Given the description of an element on the screen output the (x, y) to click on. 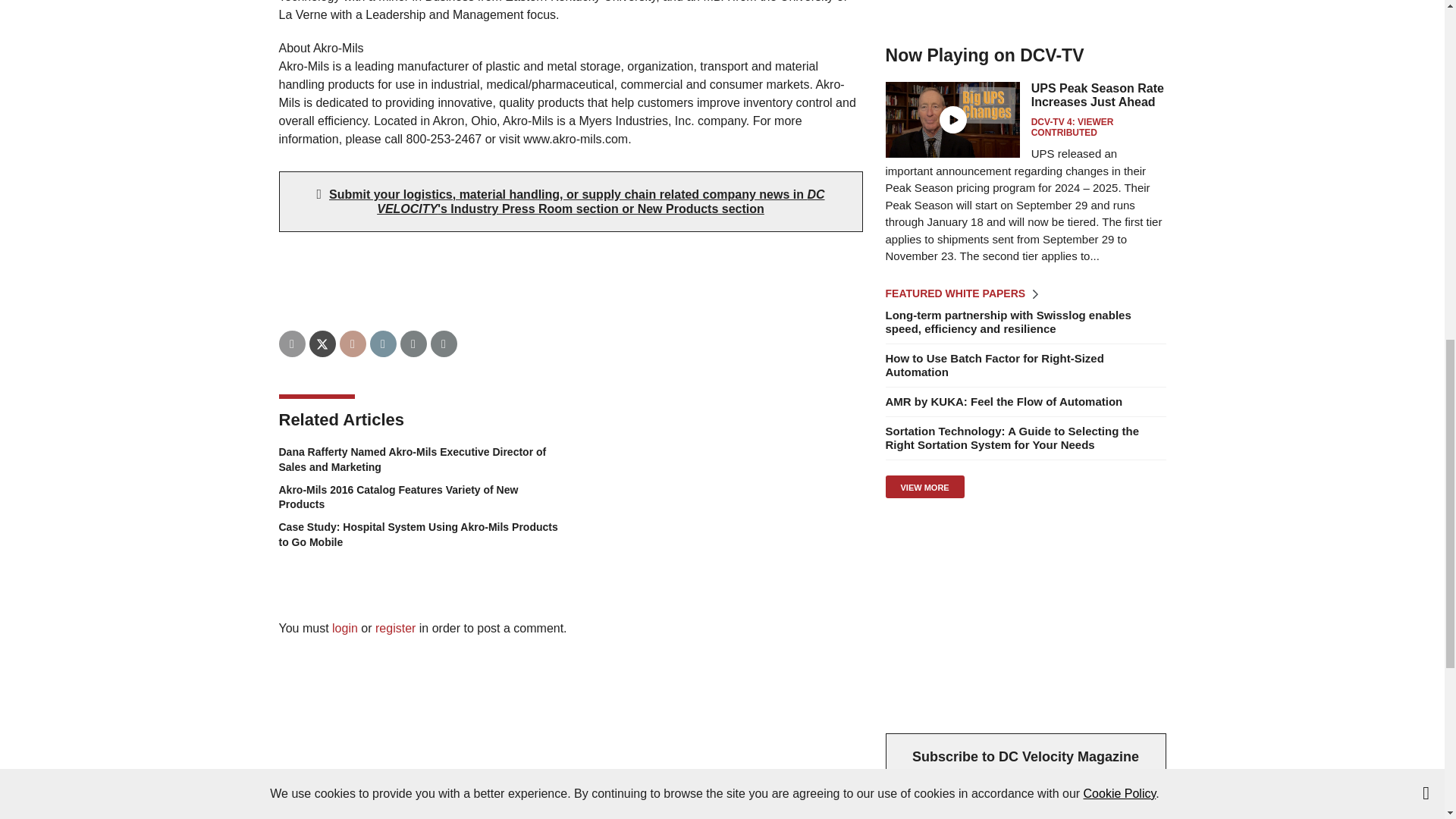
3rd party ad content (1024, 11)
3rd party ad content (1024, 615)
